Given the description of an element on the screen output the (x, y) to click on. 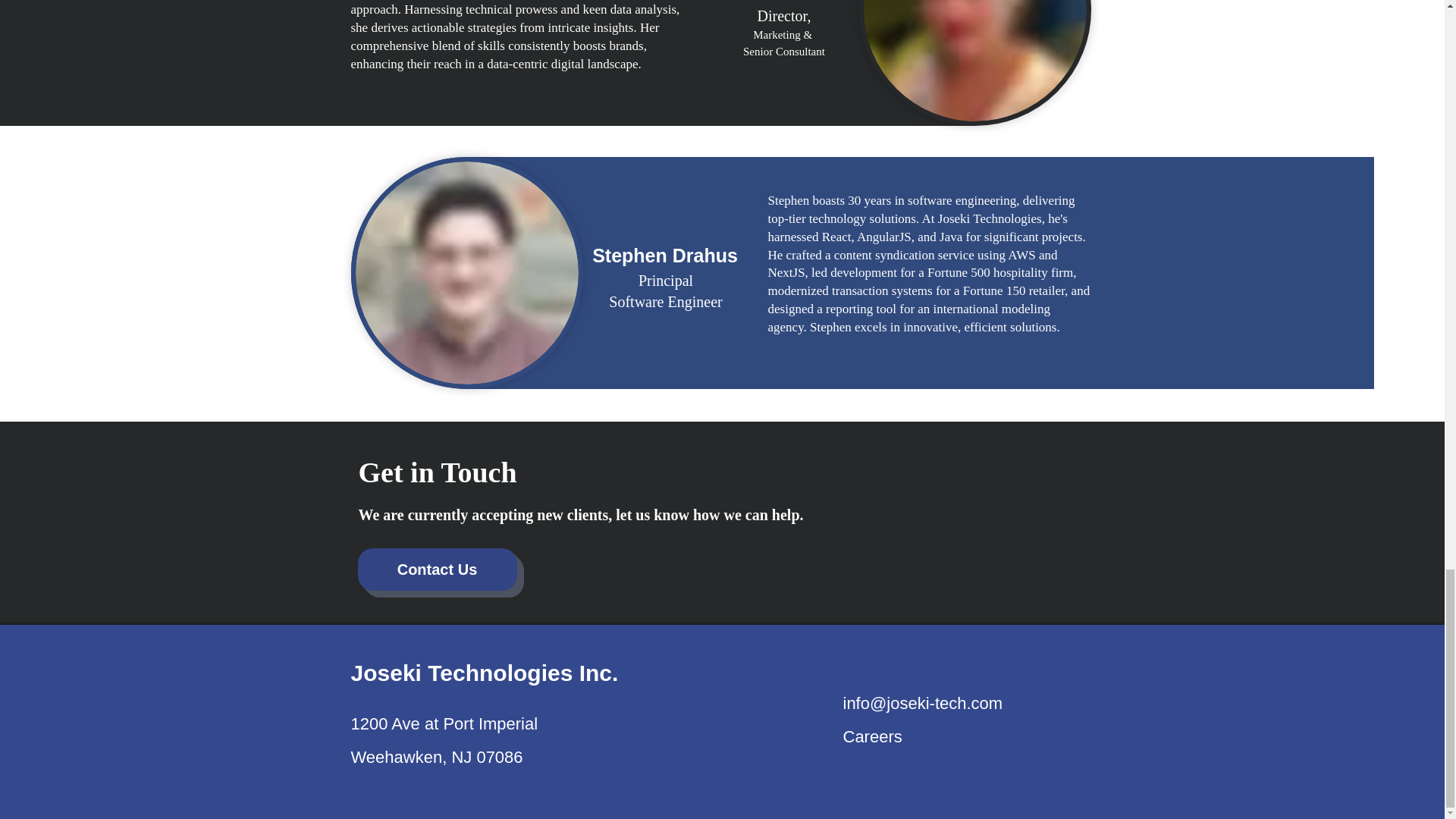
Careers (665, 290)
Joseki Technologies Inc. (872, 736)
Contact Us (483, 672)
Stephen Drahus (437, 568)
